Given the description of an element on the screen output the (x, y) to click on. 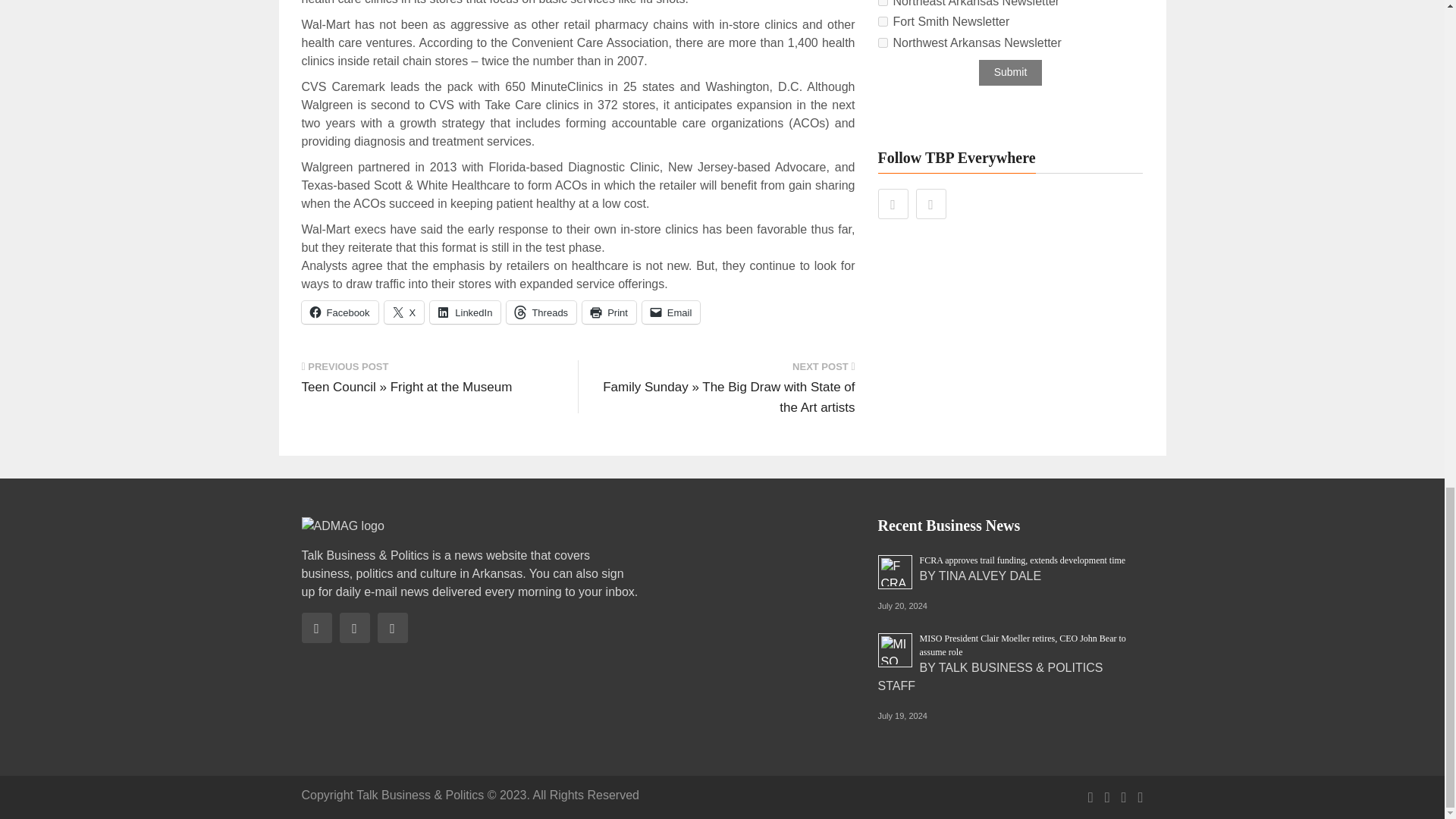
0dbc242577 (882, 2)
Click to share on Threads (541, 312)
Click to share on X (404, 312)
Click to share on LinkedIn (464, 312)
Click to print (609, 312)
bfd07a2f6a (882, 21)
536baa6e11 (882, 42)
Click to share on Facebook (339, 312)
